Given the description of an element on the screen output the (x, y) to click on. 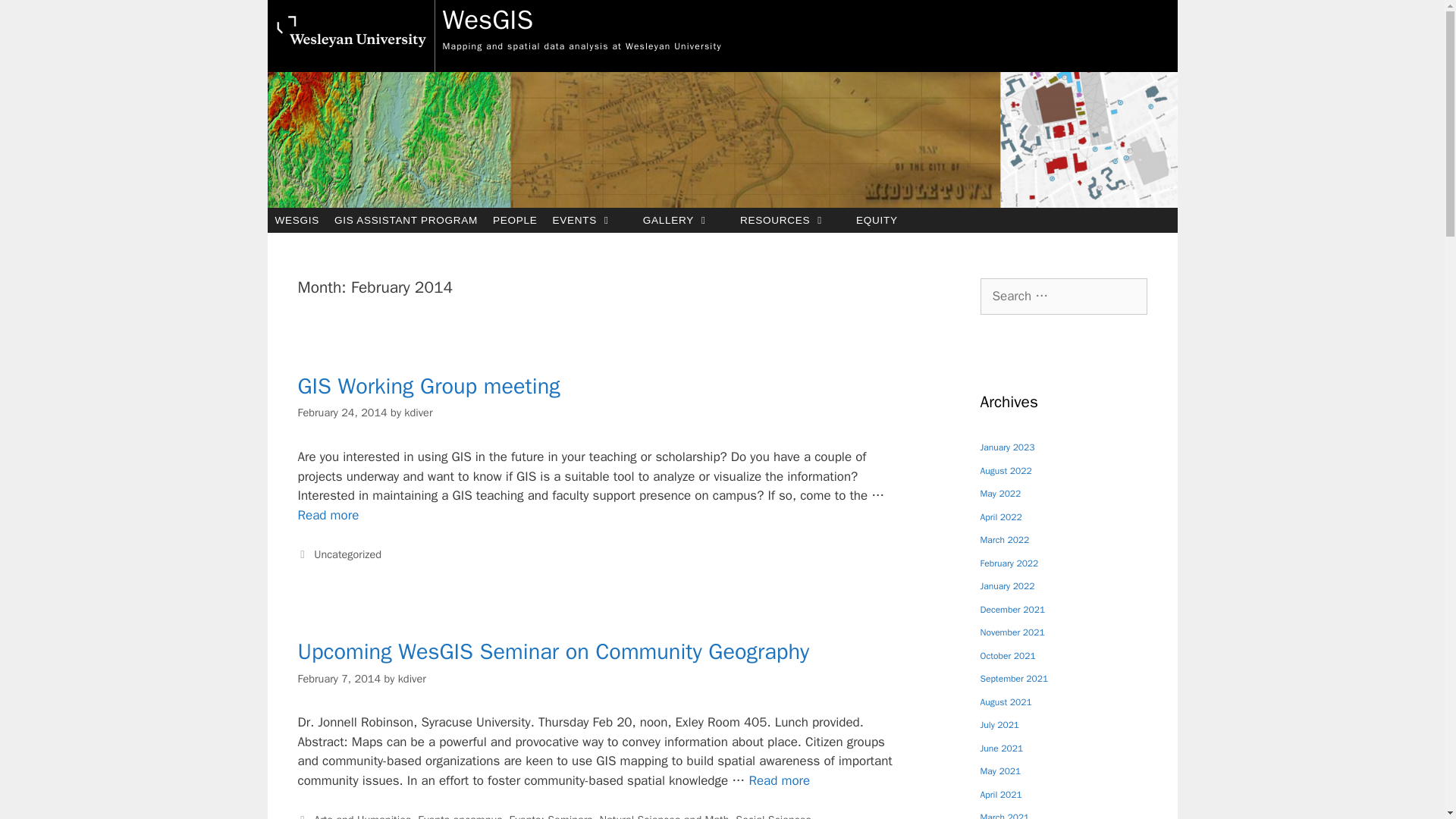
PEOPLE (514, 220)
Natural Sciences and Math (664, 816)
Events oncampus (459, 816)
GIS Working Group meeting (327, 514)
kdiver (418, 412)
GIS ASSISTANT PROGRAM (405, 220)
WESGIS (296, 220)
kdiver (411, 678)
GIS Working Group meeting (428, 386)
RESOURCES (790, 220)
View all posts by kdiver (418, 412)
View all posts by kdiver (411, 678)
EVENTS (589, 220)
Upcoming WesGIS Seminar on Community Geography (553, 651)
WesGIS (488, 19)
